Given the description of an element on the screen output the (x, y) to click on. 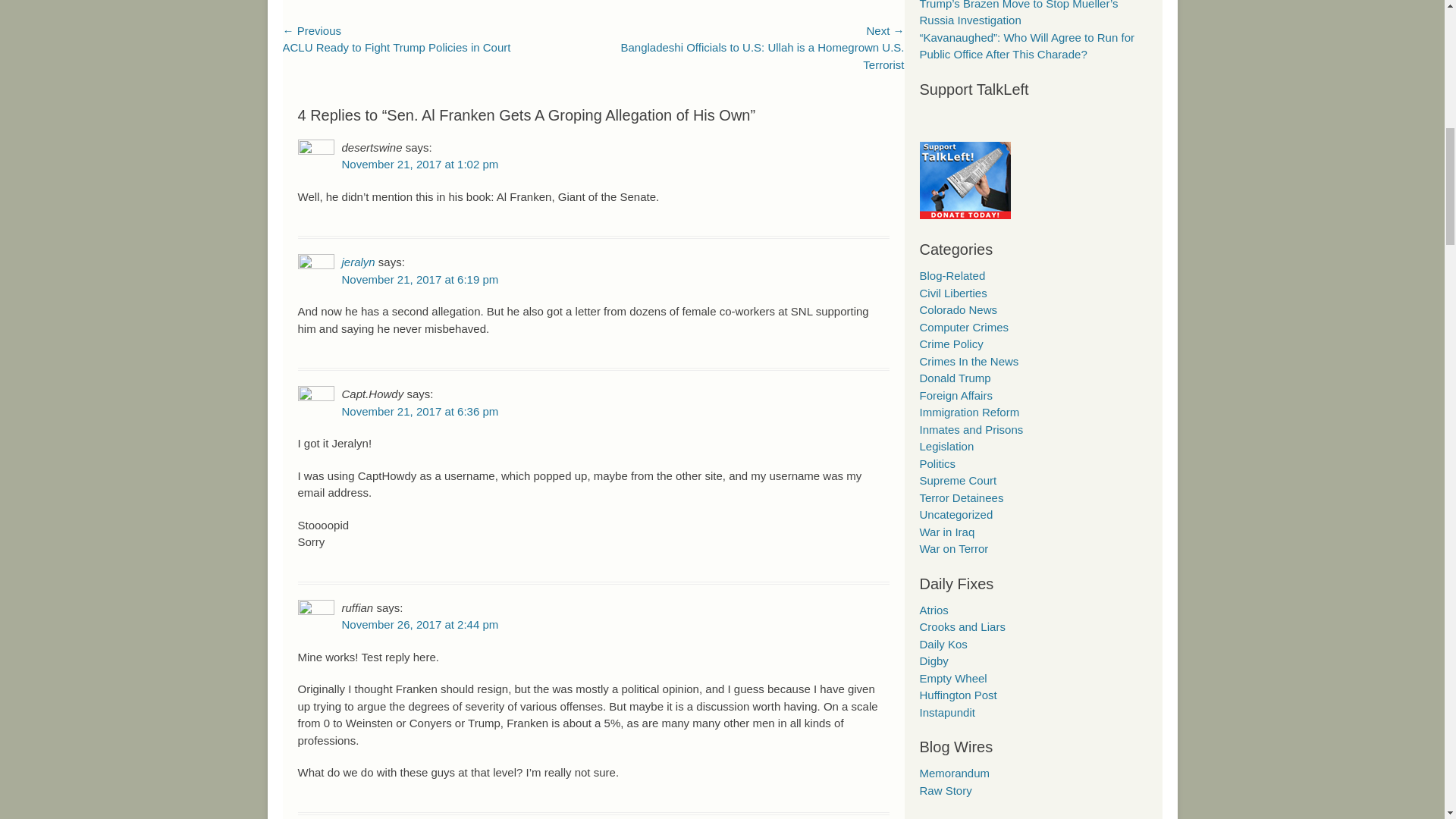
Computer Crimes (963, 327)
Crime Policy (950, 343)
Blog-Related (951, 275)
Civil Liberties (952, 292)
November 21, 2017 at 6:36 pm (418, 410)
November 26, 2017 at 2:44 pm (418, 624)
jeralyn (357, 261)
Colorado News (957, 309)
November 21, 2017 at 1:02 pm (418, 164)
November 21, 2017 at 6:19 pm (418, 278)
